Given the description of an element on the screen output the (x, y) to click on. 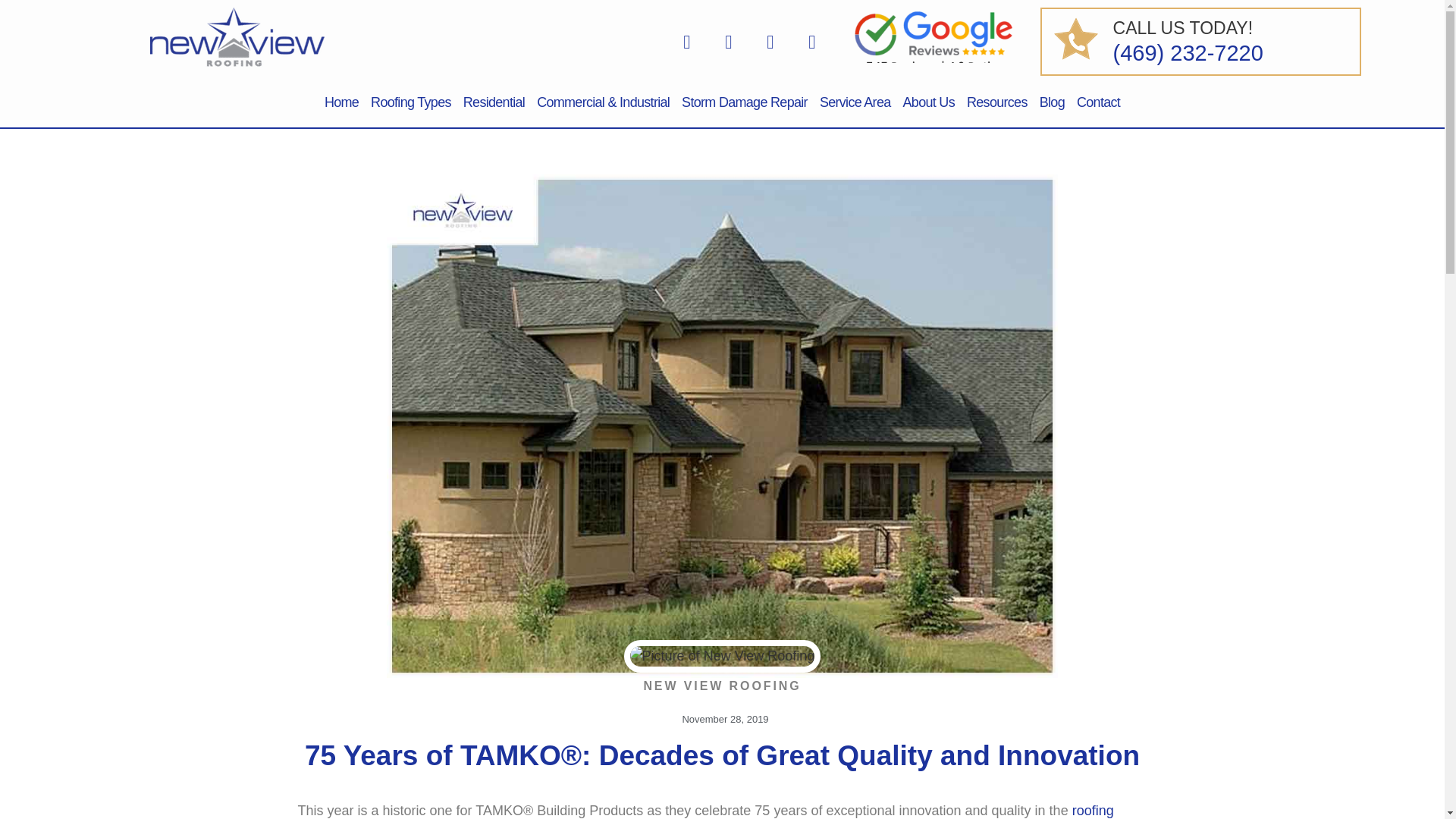
Home (341, 102)
Residential (494, 102)
Roofing Types (411, 102)
